Given the description of an element on the screen output the (x, y) to click on. 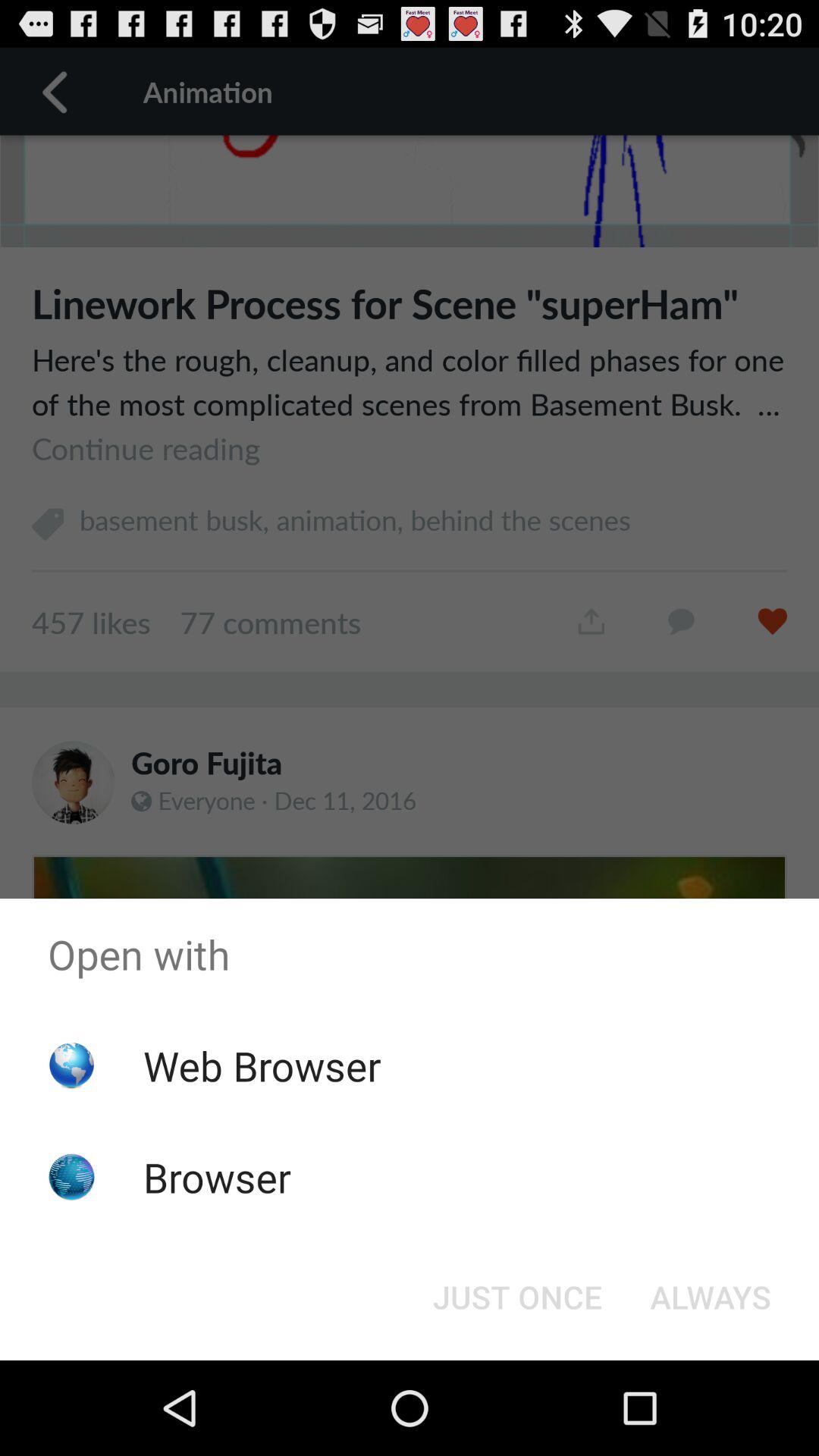
press app above the browser icon (262, 1065)
